Given the description of an element on the screen output the (x, y) to click on. 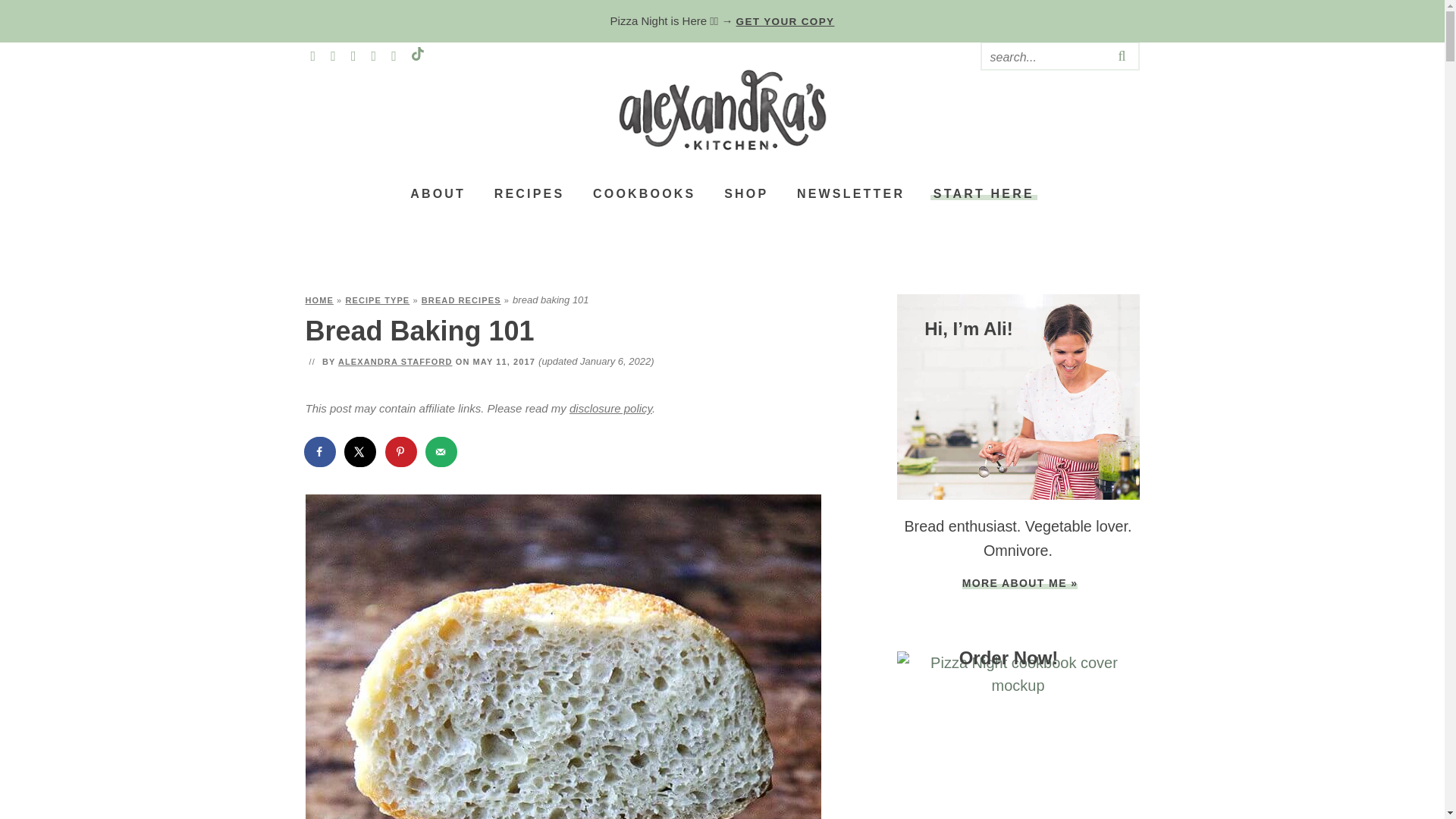
Share on Facebook (319, 451)
Save to Pinterest (401, 451)
Send over email (441, 451)
Share on X (360, 451)
Alexandra's Kitchen (721, 108)
Search (1043, 55)
TikTok (417, 55)
